Given the description of an element on the screen output the (x, y) to click on. 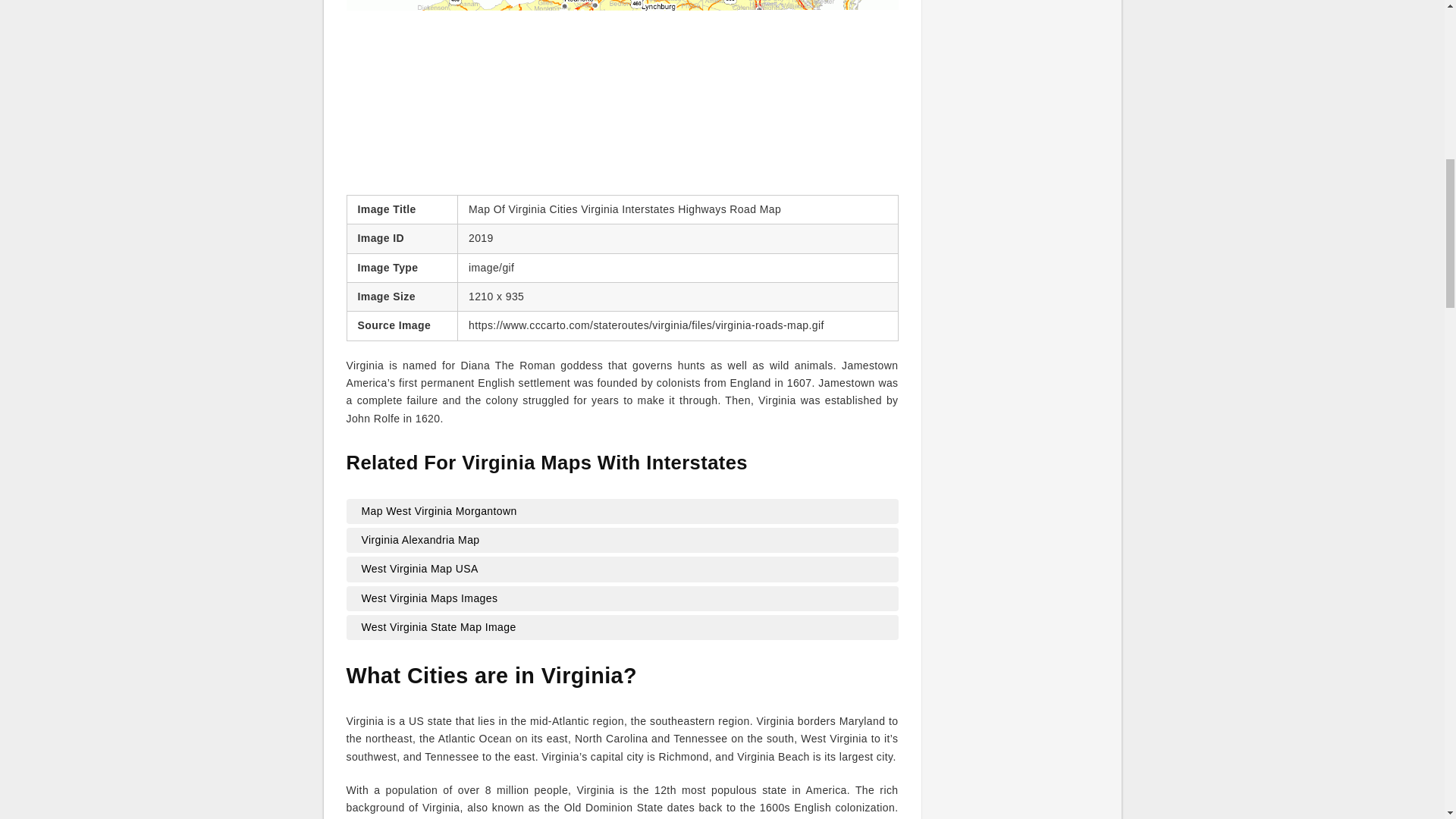
Virginia Alexandria Map (621, 539)
West Virginia Maps Images (621, 598)
West Virginia Map USA (621, 568)
Map West Virginia Morgantown (621, 511)
West Virginia State Map Image (621, 627)
